Given the description of an element on the screen output the (x, y) to click on. 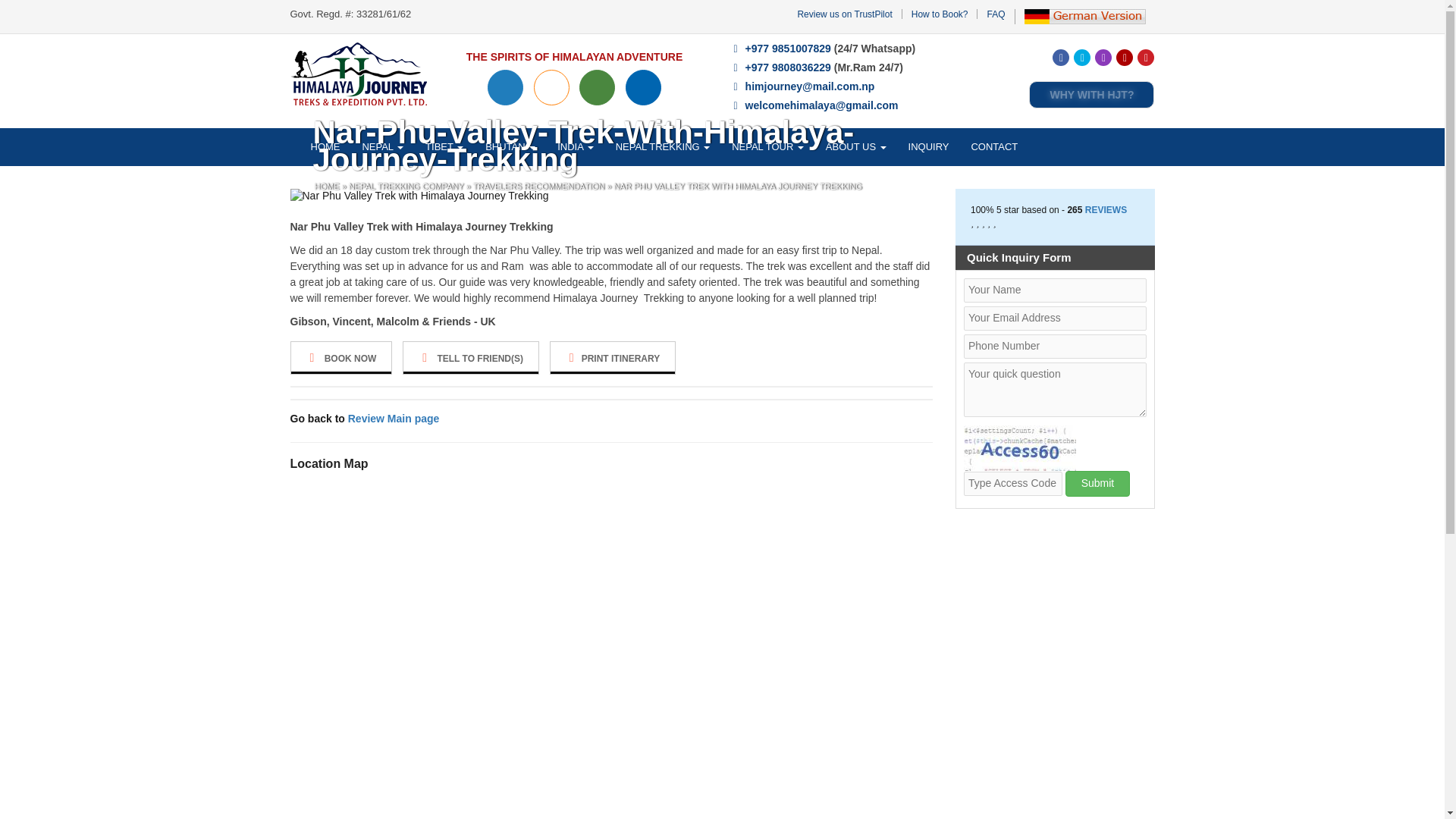
Recommended by Rough Guide Travel Book (551, 87)
Recommended on TripAdvisor (596, 87)
WHY WITH HJT? (1091, 94)
FAQ (995, 14)
How to Book? (939, 14)
Recommended by Lonely Planet Travel Guide Book (504, 87)
Traveller's Recommendation (643, 87)
Review us on TrustPilot (843, 14)
NEPAL (382, 146)
HOME (325, 146)
